Given the description of an element on the screen output the (x, y) to click on. 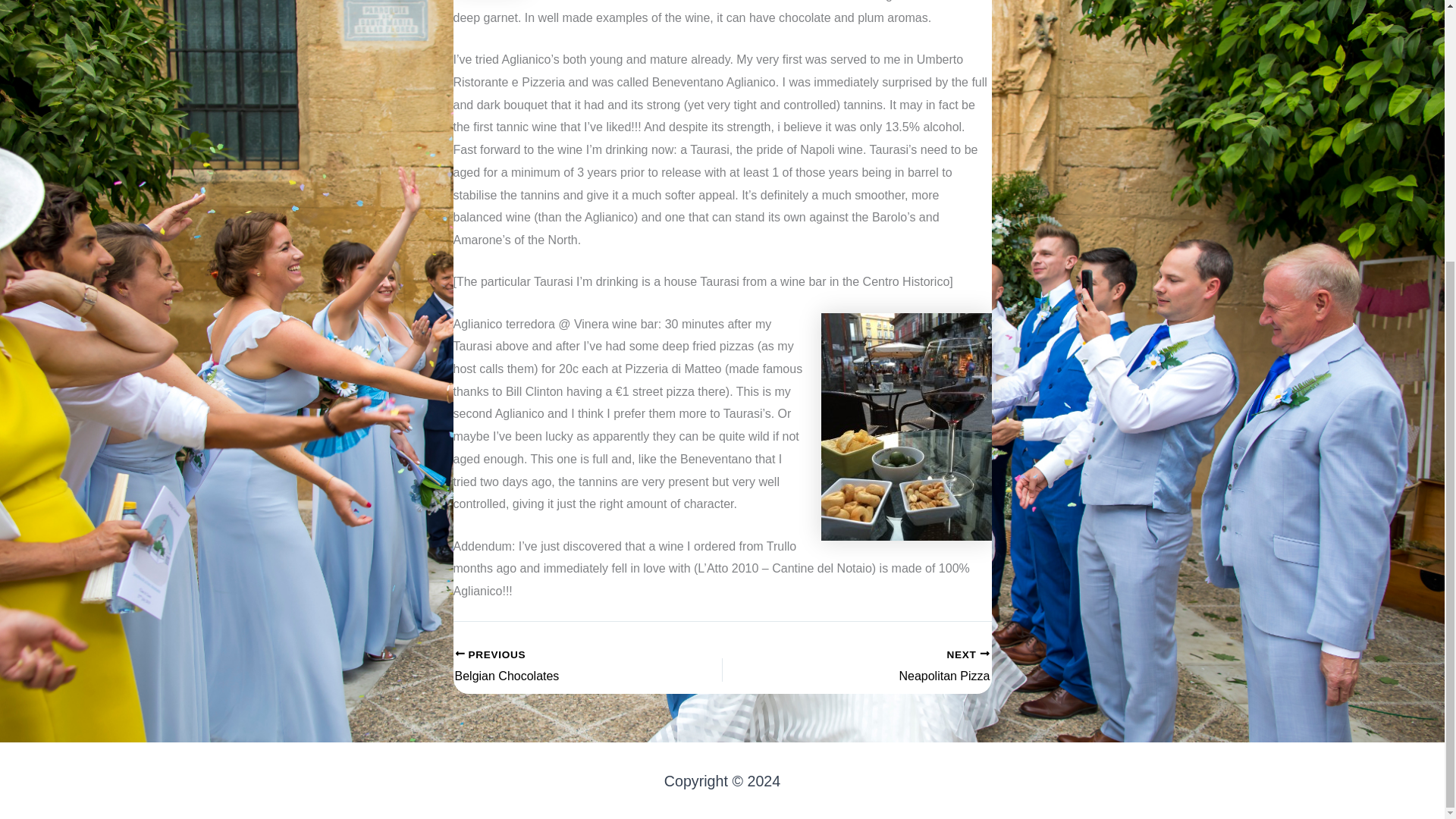
Neapolitan Pizza (882, 667)
Belgian Chocolates (561, 667)
